Given the description of an element on the screen output the (x, y) to click on. 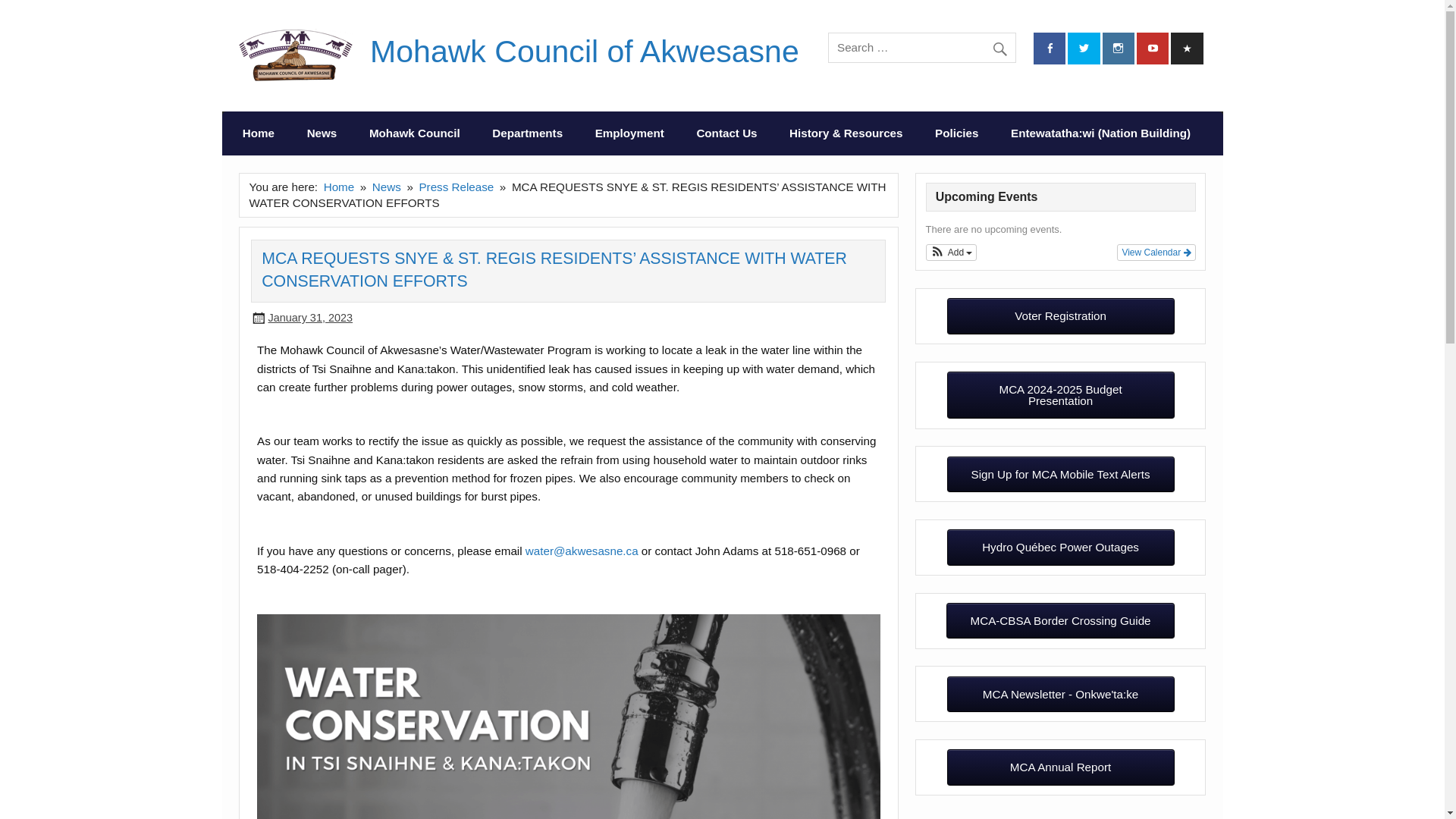
News (320, 133)
Departments (527, 133)
Mohawk Council of Akwesasne (584, 51)
Home (259, 133)
2:30 PM (309, 317)
Mohawk Council (414, 133)
